Given the description of an element on the screen output the (x, y) to click on. 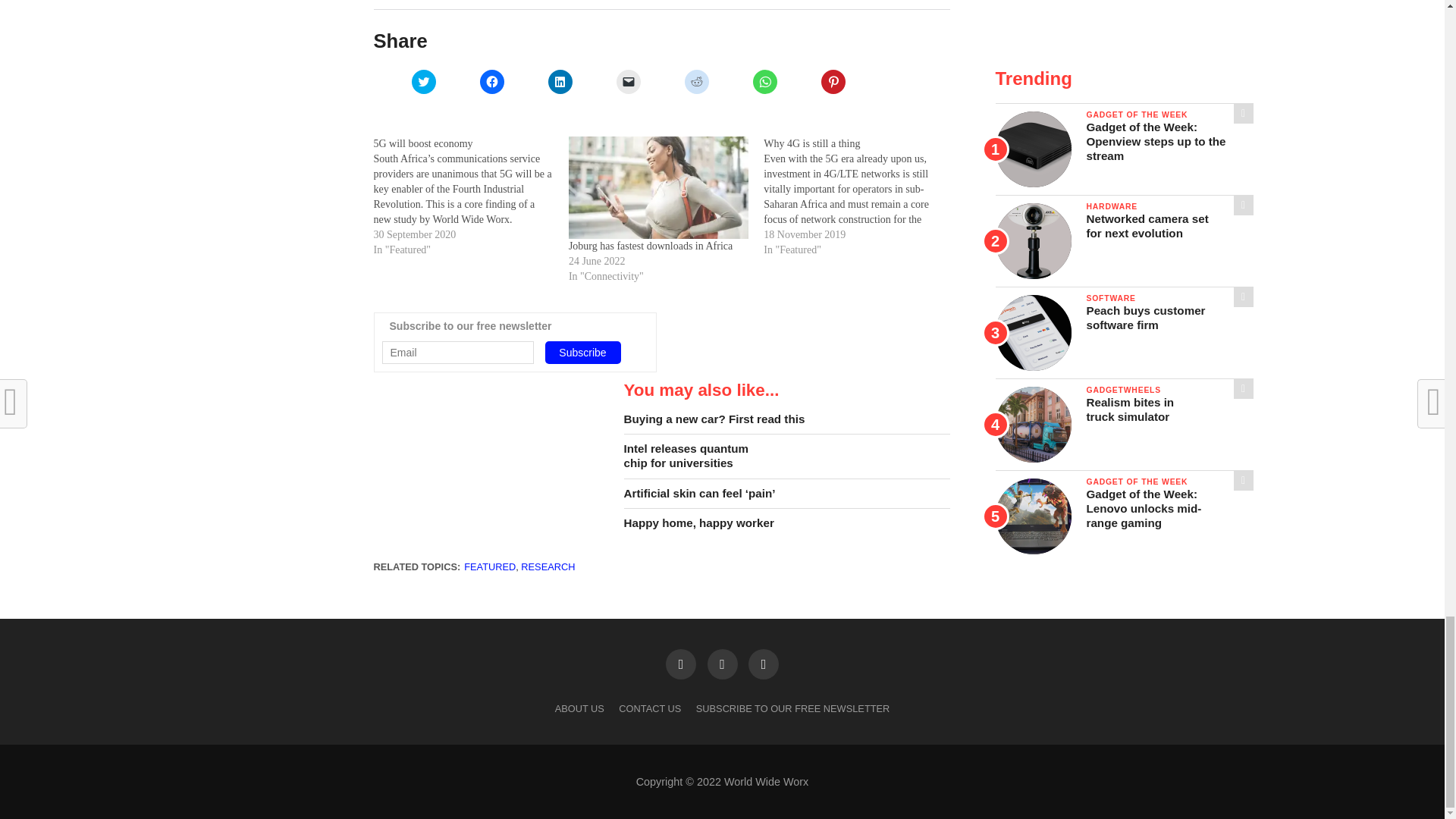
Click to share on LinkedIn (559, 81)
Click to share on Twitter (422, 81)
Click to email a link to a friend (627, 81)
Subscribe (582, 352)
Click to share on Facebook (491, 81)
